Given the description of an element on the screen output the (x, y) to click on. 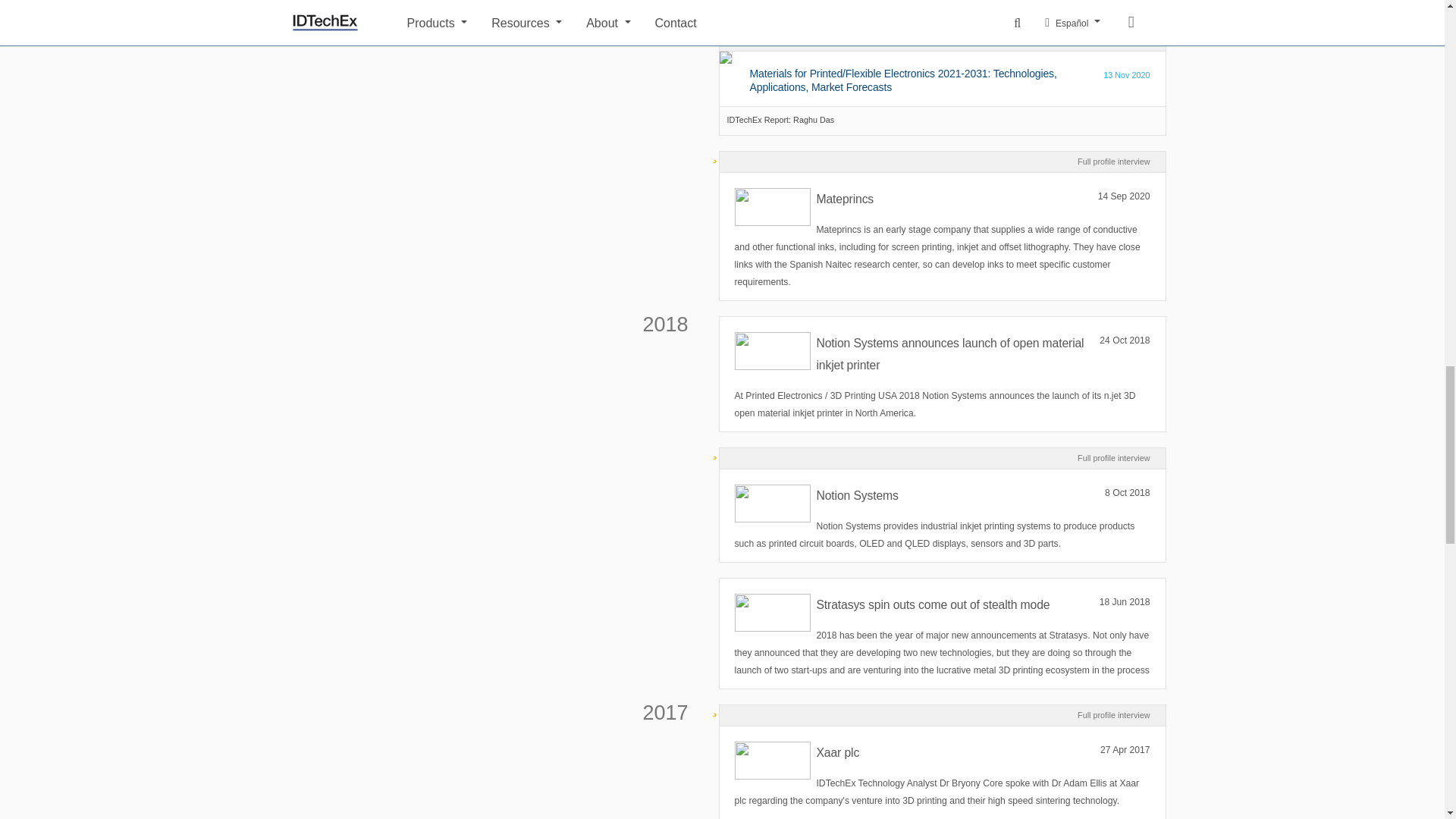
24 Oct 2018 (1124, 340)
13 Nov 2020 (1126, 75)
IDTechEx Research Subscriber Only (714, 153)
IDTechEx Research Subscriber Only (714, 449)
14 Sep 2020 (1123, 196)
8 Oct 2018 (1127, 493)
